Given the description of an element on the screen output the (x, y) to click on. 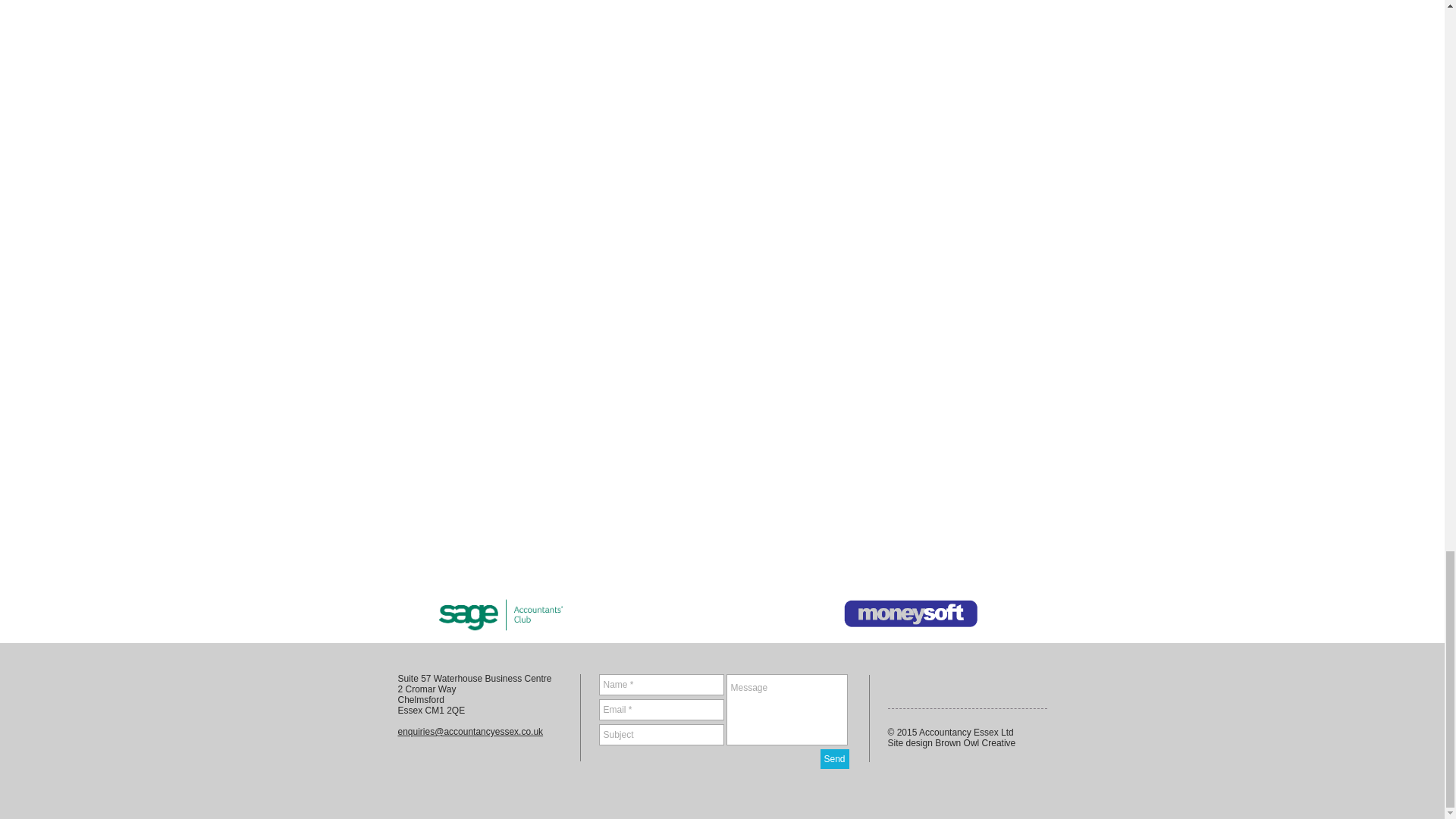
Accountant Essex (501, 613)
Brown Owl Creative (974, 742)
Send (834, 759)
Accountant Essex (910, 613)
